Given the description of an element on the screen output the (x, y) to click on. 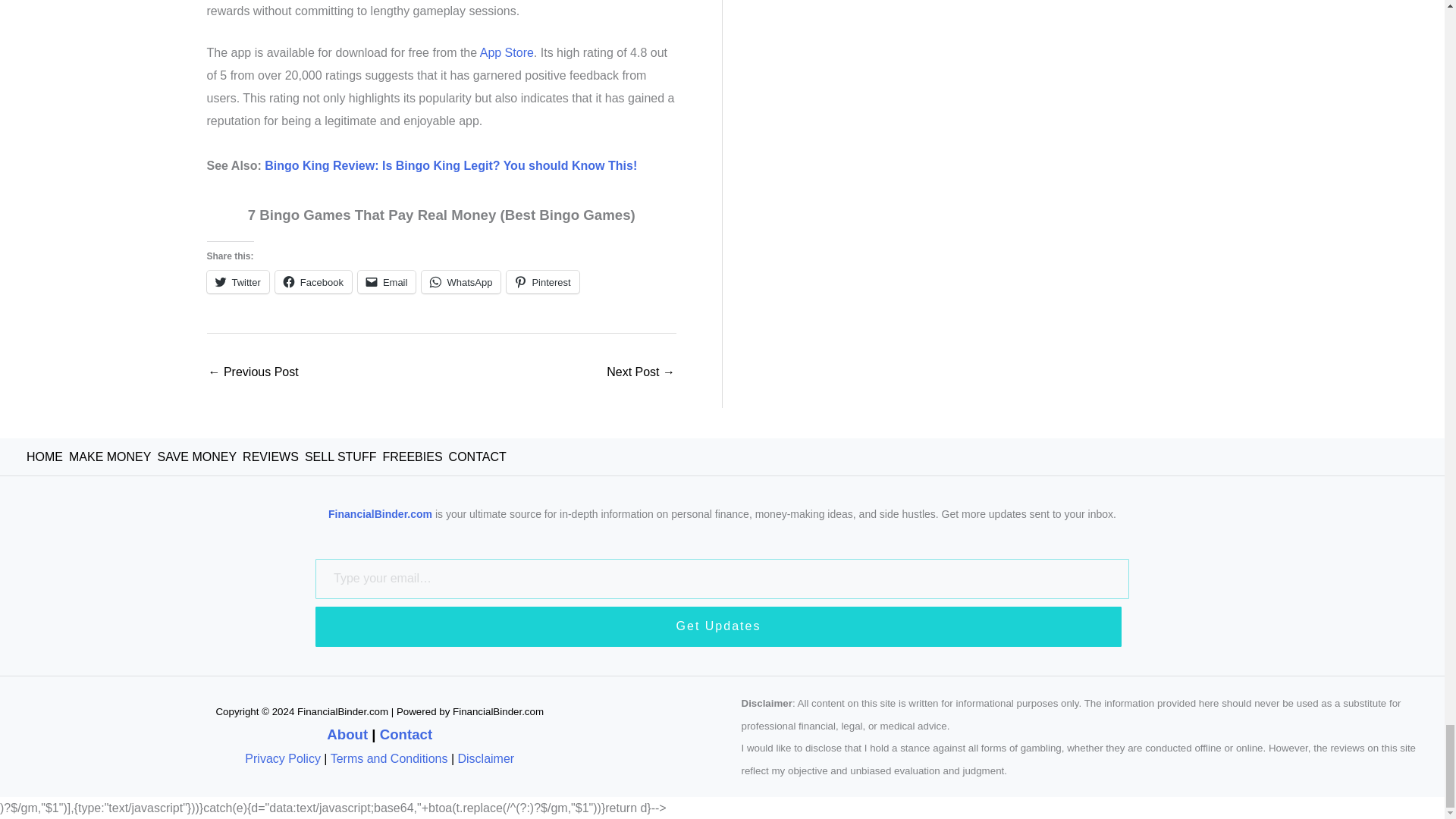
Click to share on Pinterest (542, 282)
Click to share on Facebook (313, 282)
Click to share on Twitter (236, 282)
Click to email a link to a friend (387, 282)
Click to share on WhatsApp (461, 282)
